Given the description of an element on the screen output the (x, y) to click on. 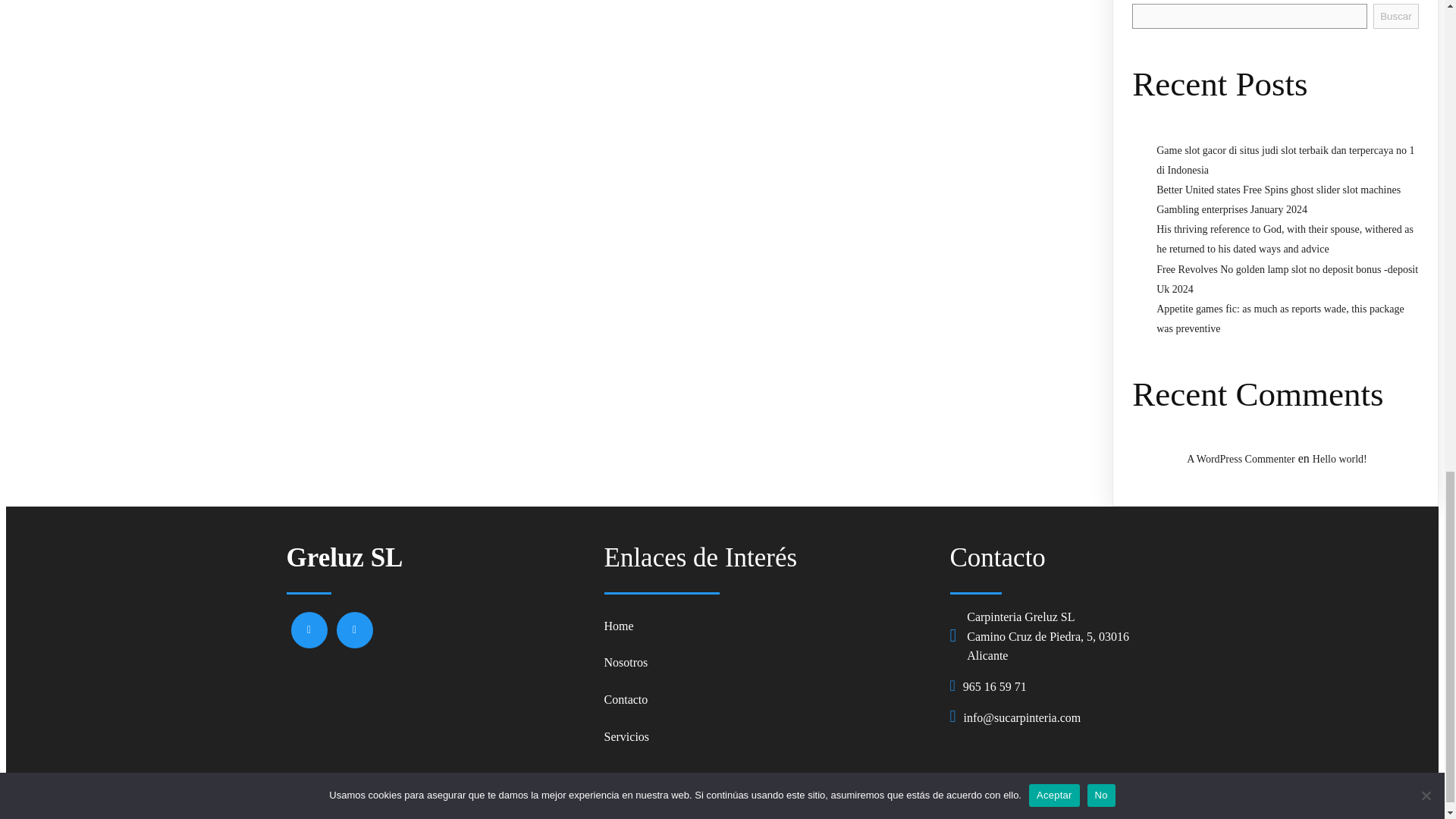
Nosotros (769, 662)
Buscar (1395, 16)
Greluz SL (437, 558)
A WordPress Commenter (1240, 459)
Servicios (769, 736)
Contacto (769, 699)
